Given the description of an element on the screen output the (x, y) to click on. 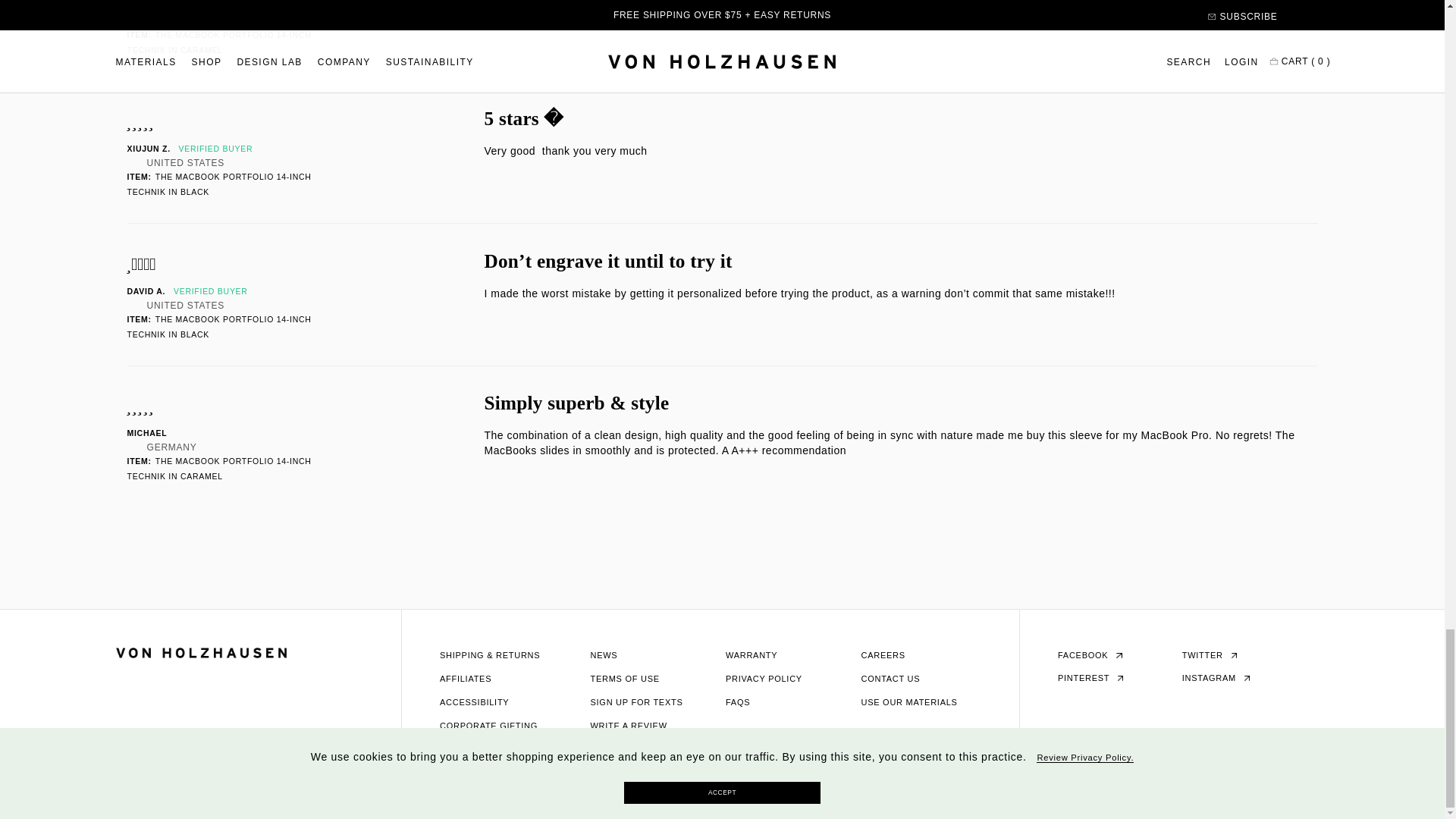
von Holzhausen on Instagram (1215, 677)
von Holzhausen on Twitter (1209, 655)
von Holzhausen on Facebook (1090, 655)
von Holzhausen on Pinterest (1090, 677)
